Given the description of an element on the screen output the (x, y) to click on. 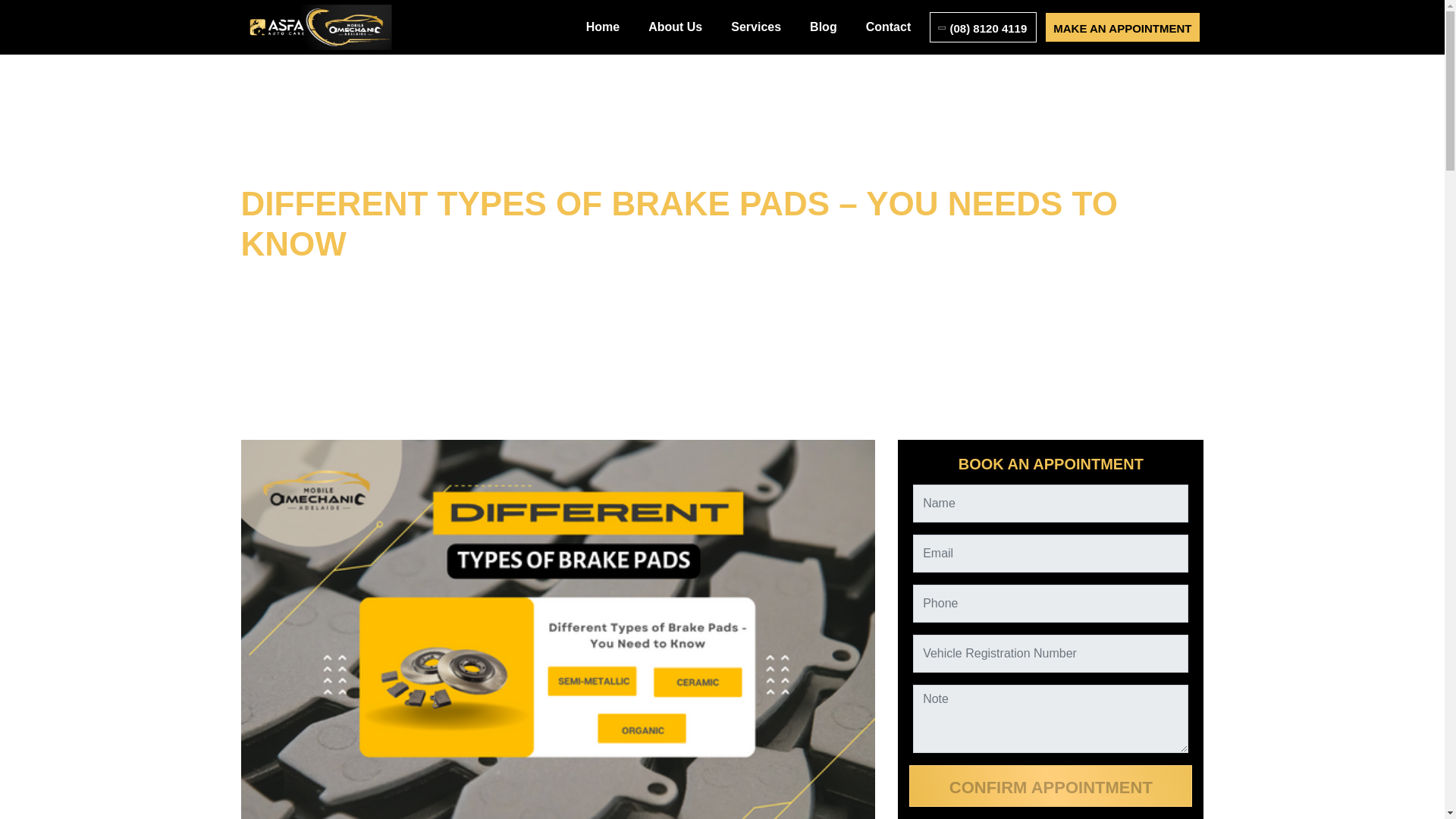
Contact (888, 27)
Services (755, 27)
About Us (675, 27)
MAKE AN APPOINTMENT (1121, 27)
Home (602, 27)
Confirm appointment (1050, 785)
Confirm appointment (1050, 785)
